Given the description of an element on the screen output the (x, y) to click on. 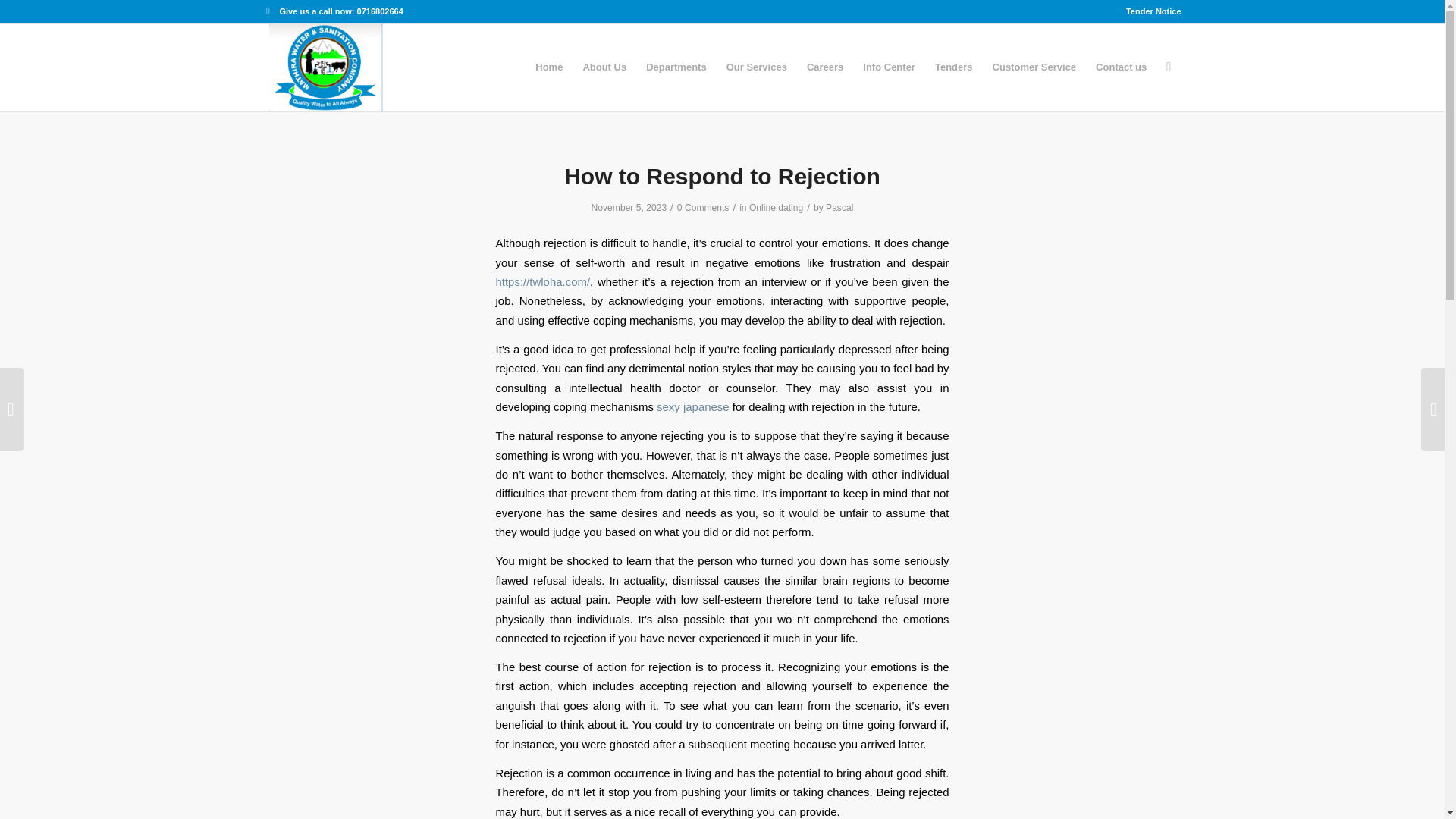
Pascal (839, 207)
Posts by Pascal (839, 207)
0 Comments (703, 207)
Our Services (756, 67)
Online dating (776, 207)
Facebook (267, 11)
Departments (676, 67)
Tender Notice (1152, 11)
sexy japanese (692, 406)
Customer Service (1034, 67)
